Given the description of an element on the screen output the (x, y) to click on. 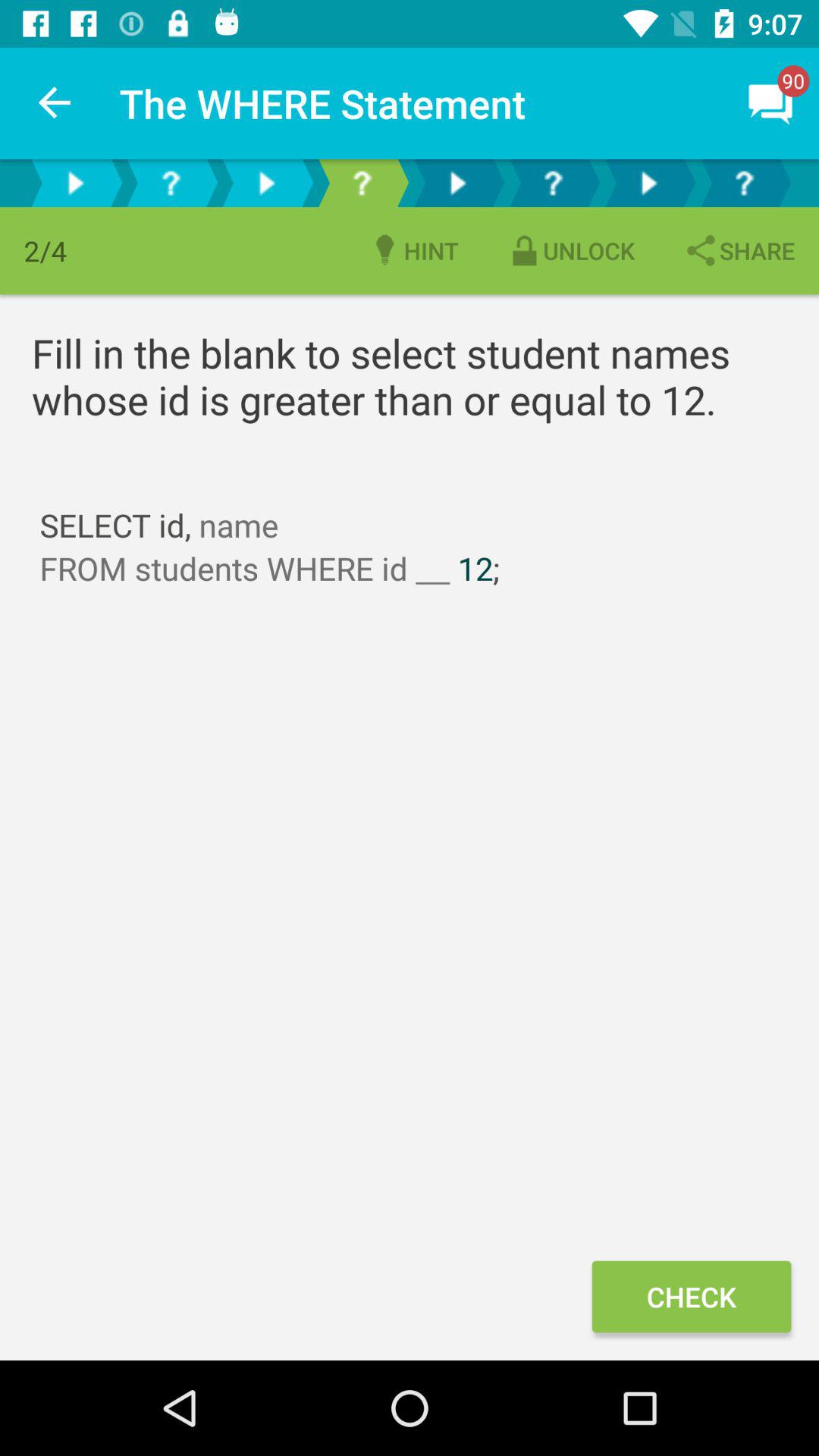
select question (170, 183)
